Given the description of an element on the screen output the (x, y) to click on. 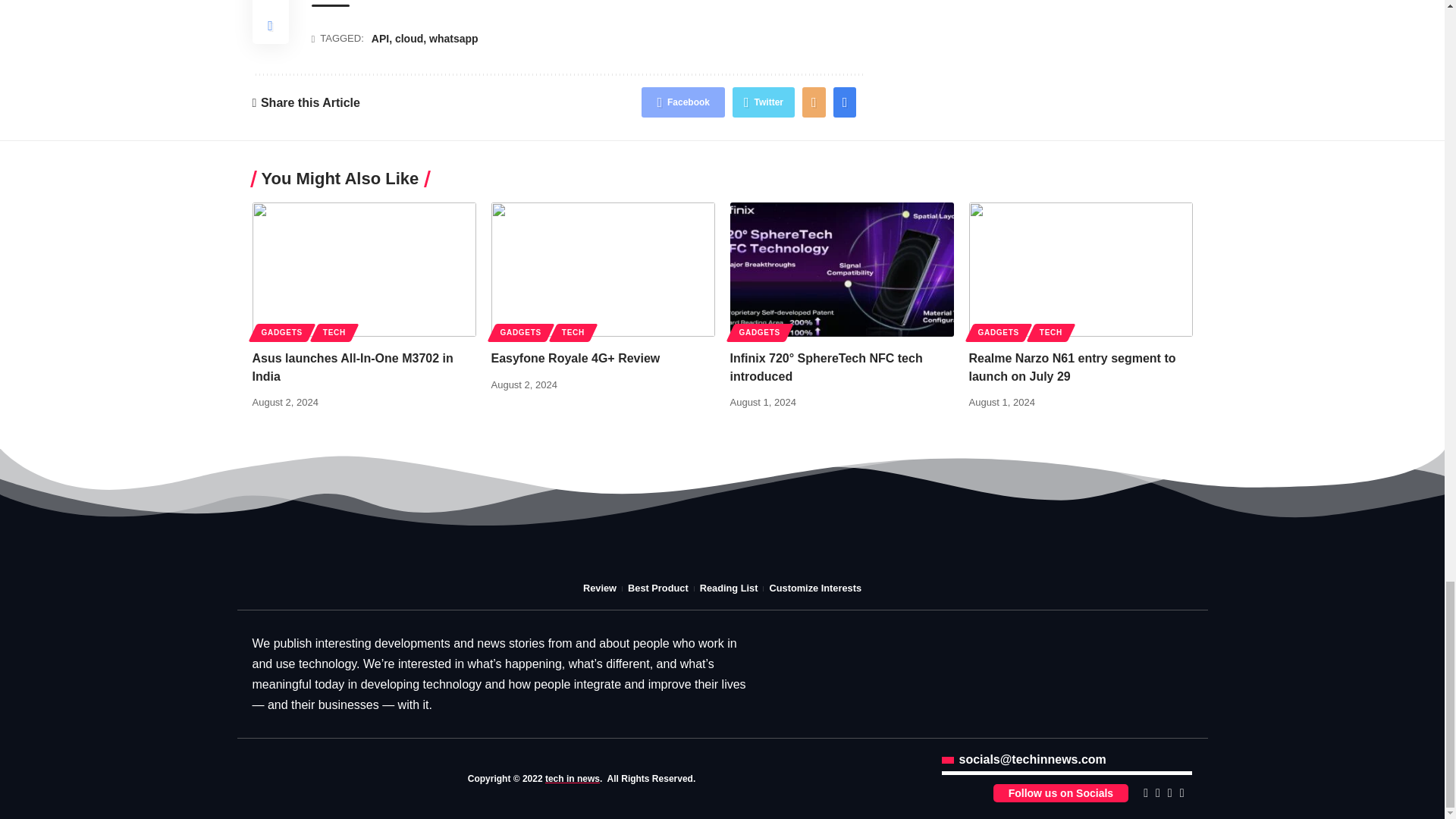
Realme Narzo N61 entry segment to launch on July 29 (1080, 269)
cloud (408, 38)
API (379, 38)
Twitter (763, 101)
whatsapp (454, 38)
Asus launches  All-In-One M3702 in India (363, 269)
Facebook (683, 101)
